Given the description of an element on the screen output the (x, y) to click on. 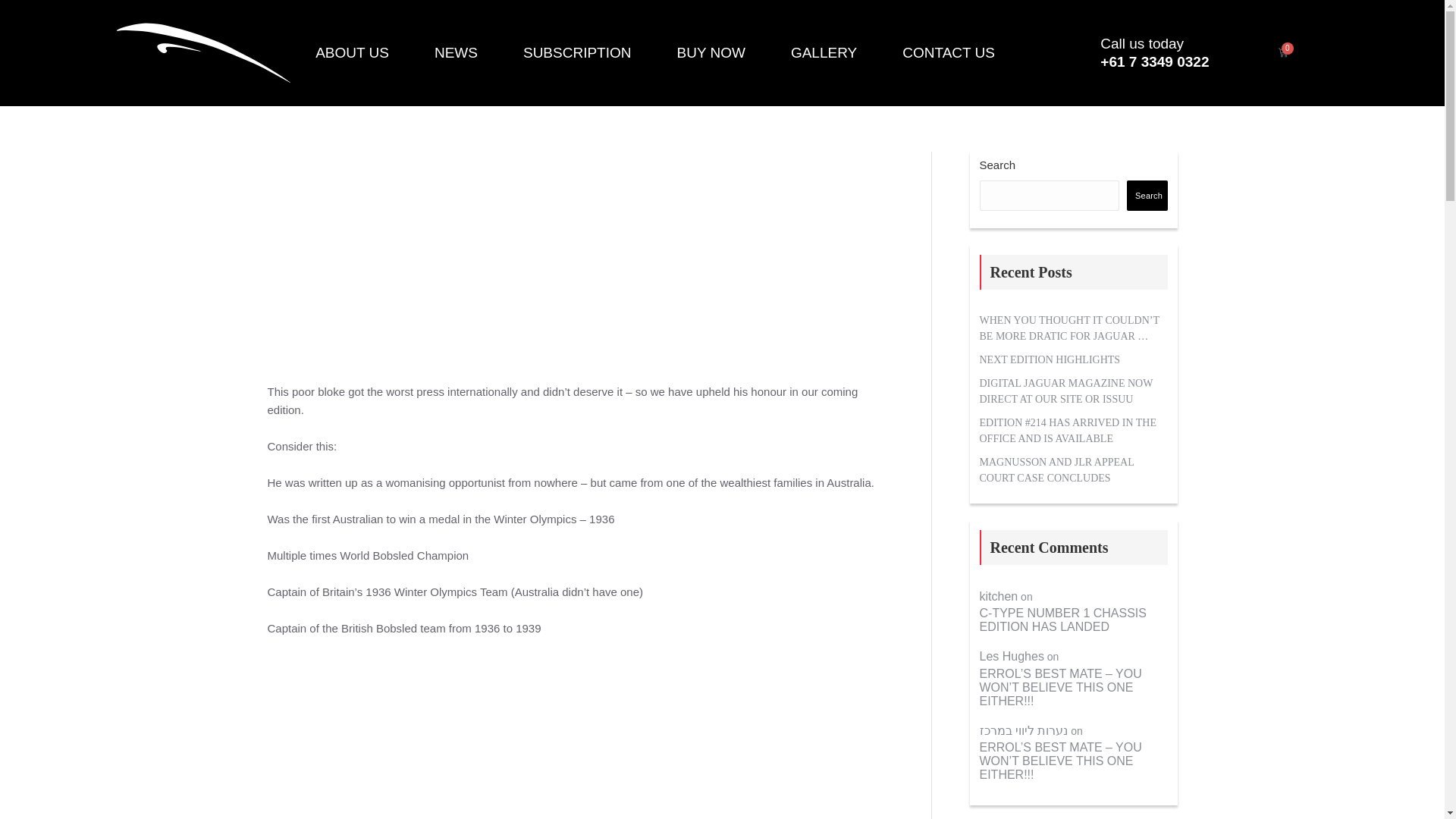
Call us today (1141, 43)
NEWS (455, 52)
SUBSCRIPTION (577, 52)
ABOUT US (351, 52)
0 (1282, 52)
GALLERY (823, 52)
CONTACT US (949, 52)
BUY NOW (710, 52)
